Given the description of an element on the screen output the (x, y) to click on. 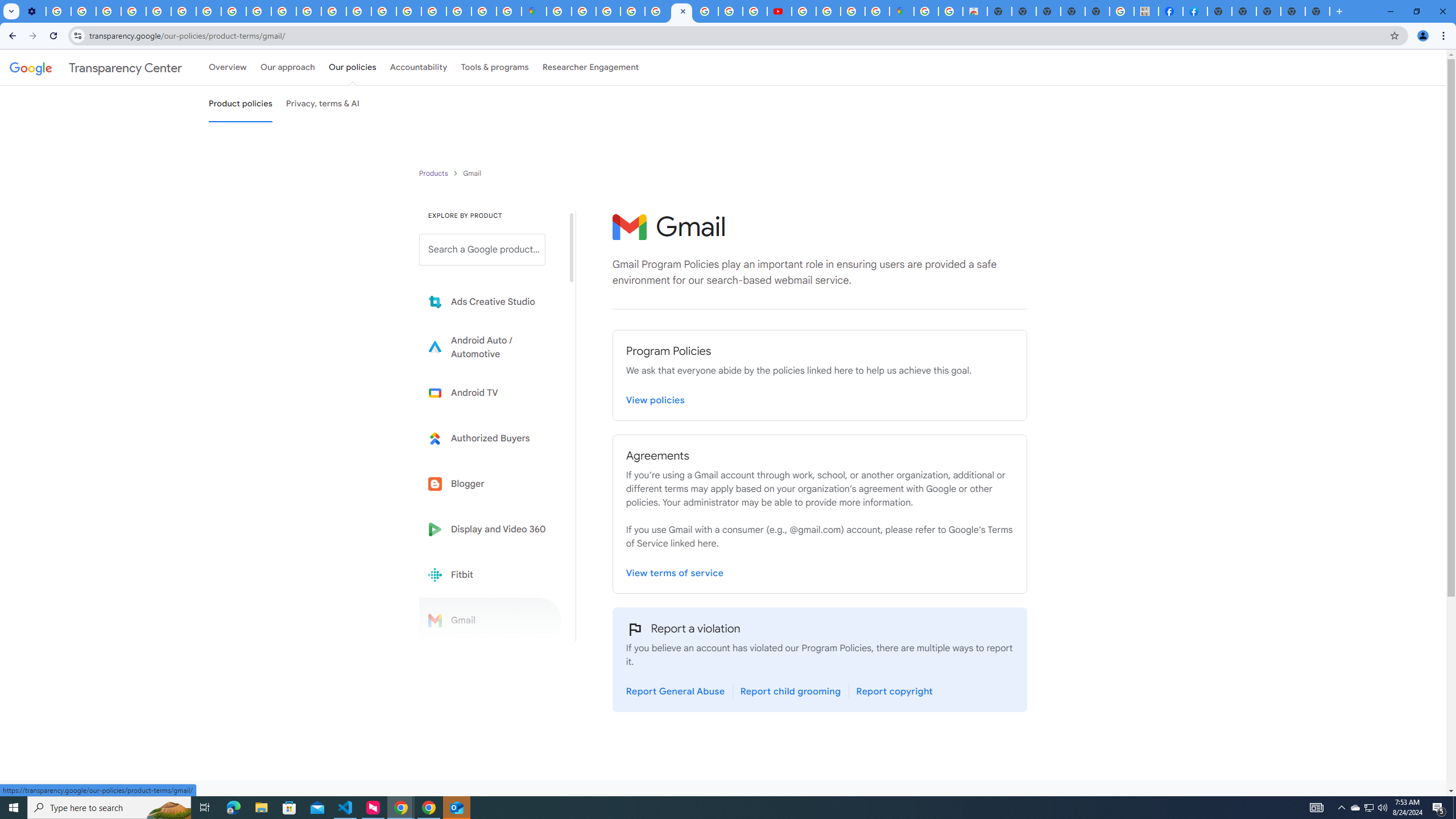
Learn more about Ads Creative Studio (490, 302)
MILEY CYRUS. (1145, 11)
Gmail (490, 619)
Fitbit (490, 574)
Product policies (434, 173)
Privacy Help Center - Policies Help (158, 11)
Miley Cyrus | Facebook (1170, 11)
Learn more about Android Auto (490, 347)
Sign Up for Facebook (1194, 11)
Chrome Web Store - Shopping (975, 11)
Settings - Customize profile (33, 11)
